Given the description of an element on the screen output the (x, y) to click on. 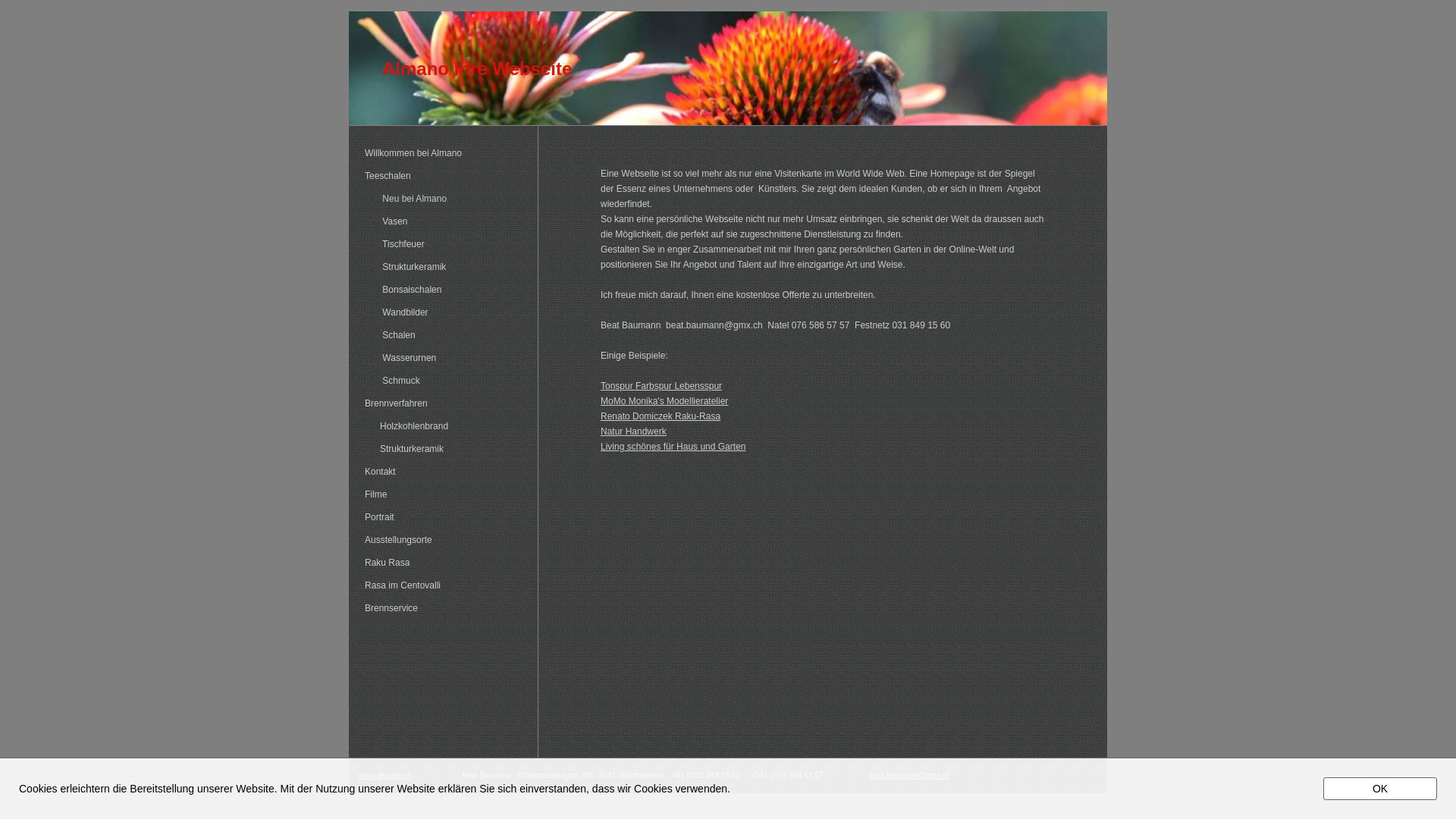
Ausstellungsorte Element type: text (440, 540)
Willkommen bei Almano Element type: text (440, 153)
Natur Handwerk Element type: text (633, 431)
beat.baumann@gmx.ch Element type: text (909, 775)
      Strukturkeramik Element type: text (440, 449)
       Neu bei Almano Element type: text (440, 199)
Rasa im Centovalli Element type: text (440, 585)
Filme Element type: text (440, 494)
       Schmuck Element type: text (440, 381)
       Bonsaischalen Element type: text (440, 290)
Renato Domiczek Raku-Rasa Element type: text (660, 416)
       Tischfeuer Element type: text (440, 244)
Kontakt Element type: text (440, 472)
Teeschalen Element type: text (440, 176)
Portrait Element type: text (440, 517)
       Vasen Element type: text (440, 221)
       Wasserurnen Element type: text (440, 358)
       Wandbilder Element type: text (440, 312)
www.almano.ch Element type: text (384, 775)
      Holzkohlenbrand Element type: text (440, 426)
Tonspur Farbspur Lebensspur Element type: text (660, 385)
Brennverfahren Element type: text (440, 403)
       Schalen Element type: text (440, 335)
MoMo Monika's Modellieratelier Element type: text (664, 400)
Raku Rasa Element type: text (440, 563)
Brennservice Element type: text (440, 608)
       Strukturkeramik Element type: text (440, 267)
